Given the description of an element on the screen output the (x, y) to click on. 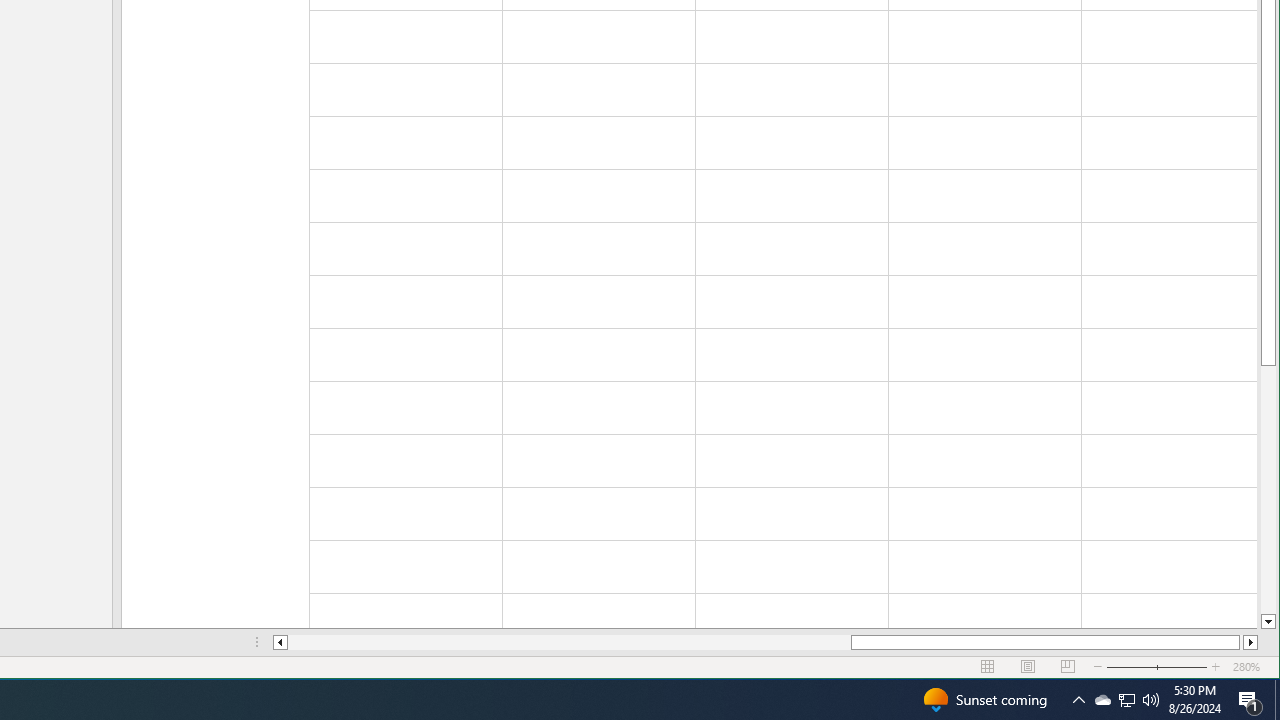
Show desktop (1277, 699)
Action Center, 1 new notification (1250, 699)
Q2790: 100% (1151, 699)
User Promoted Notification Area (1126, 699)
